Given the description of an element on the screen output the (x, y) to click on. 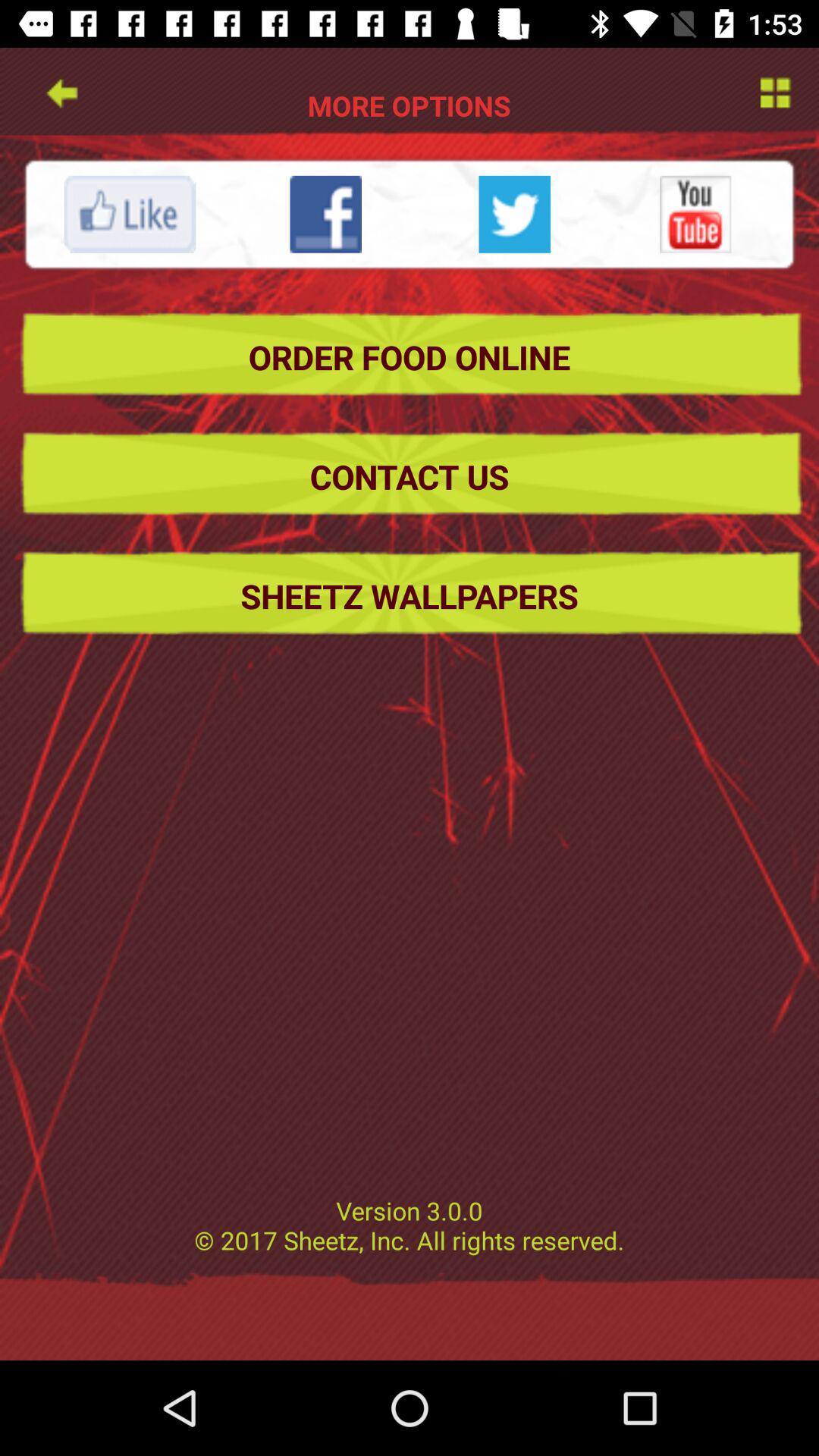
twitter (514, 214)
